Given the description of an element on the screen output the (x, y) to click on. 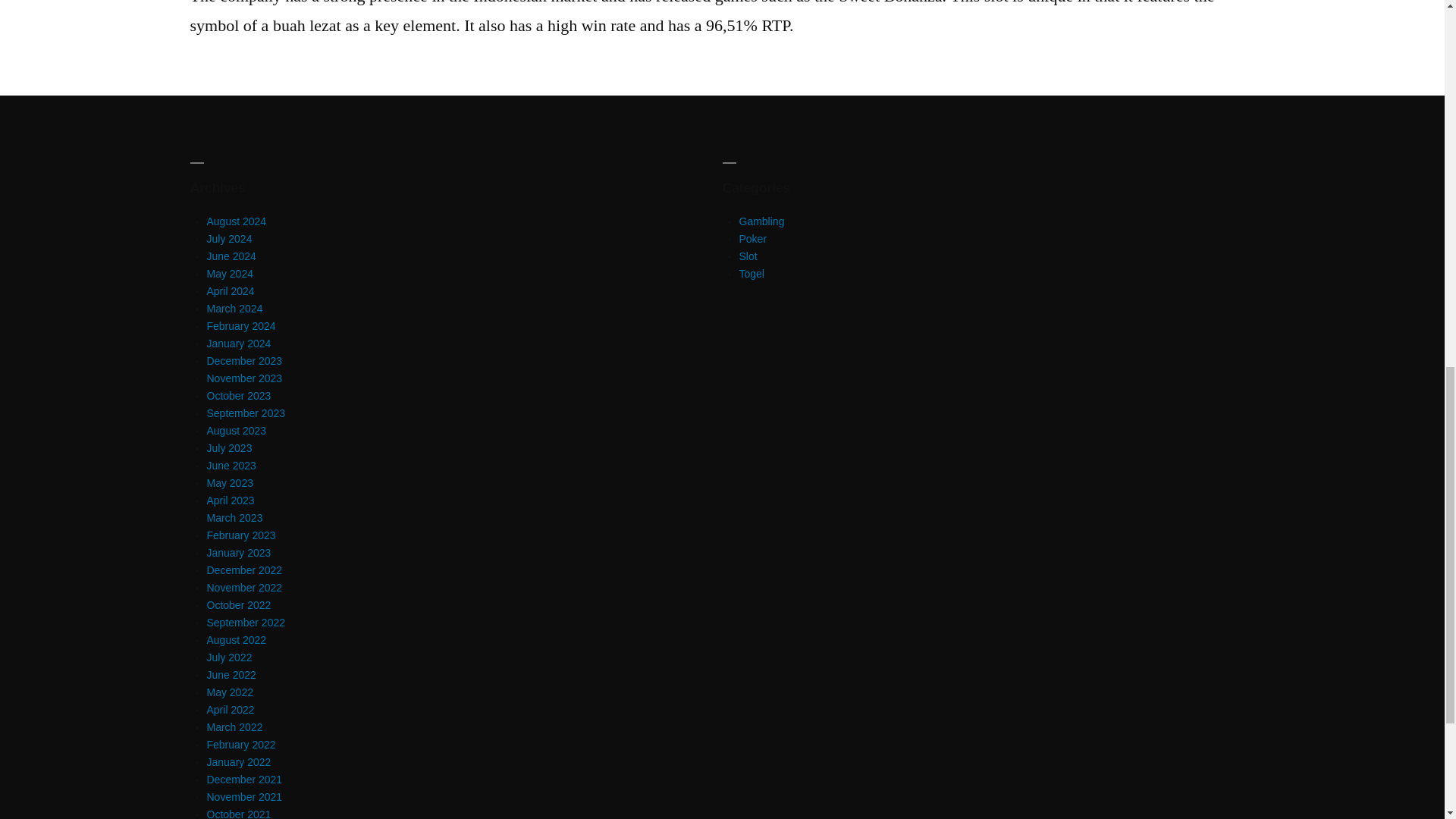
June 2023 (231, 465)
March 2024 (234, 308)
March 2022 (234, 727)
July 2023 (228, 448)
February 2022 (240, 744)
November 2023 (244, 378)
December 2021 (244, 779)
April 2024 (229, 291)
May 2022 (228, 692)
June 2022 (231, 674)
